Given the description of an element on the screen output the (x, y) to click on. 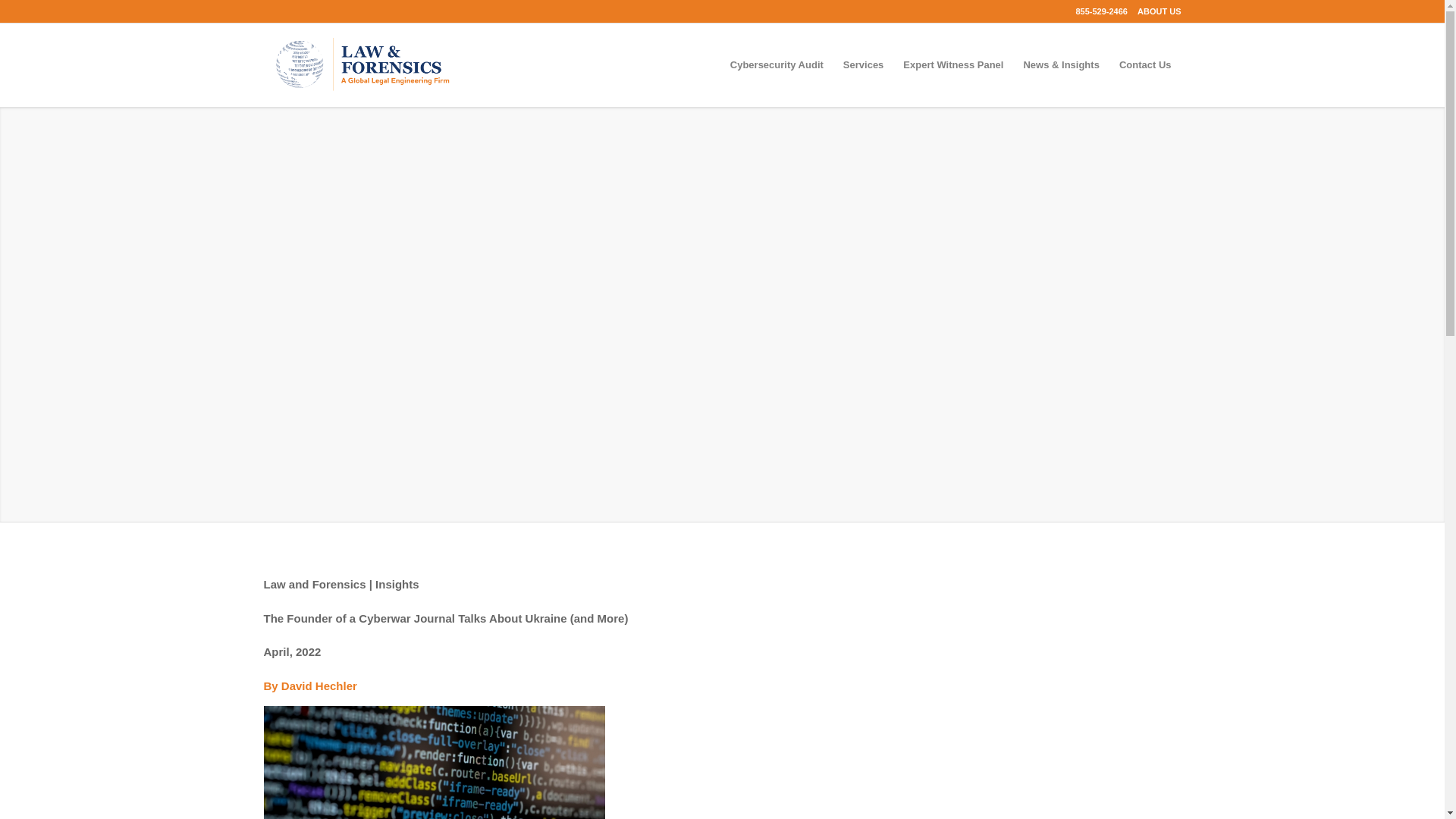
855-529-2466 (1096, 10)
Cybersecurity Audit (776, 65)
ABOUT US (1154, 10)
